Given the description of an element on the screen output the (x, y) to click on. 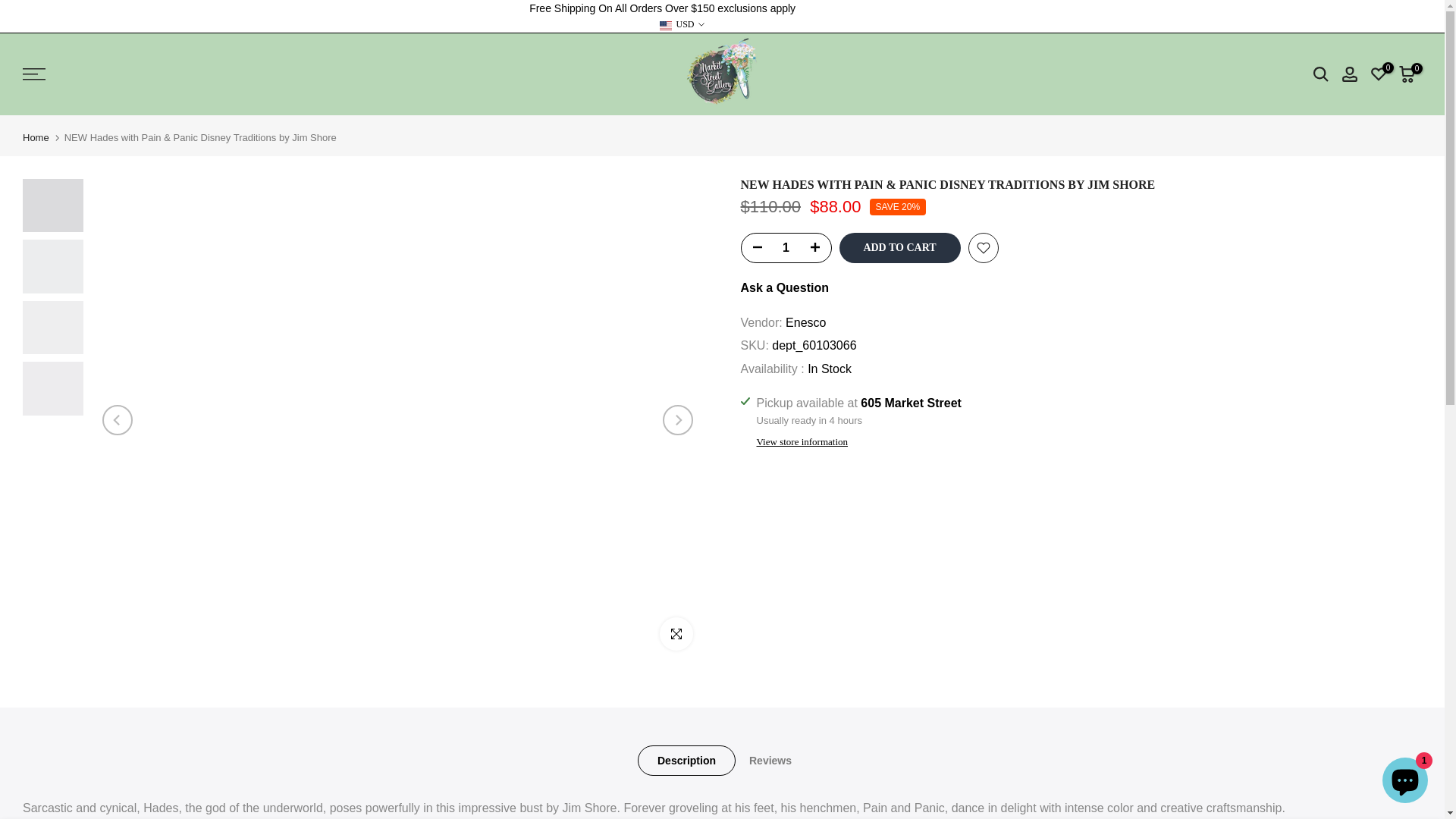
Shopify online store chat (1404, 781)
Skip to content (10, 7)
1 (786, 247)
USD (681, 23)
